Given the description of an element on the screen output the (x, y) to click on. 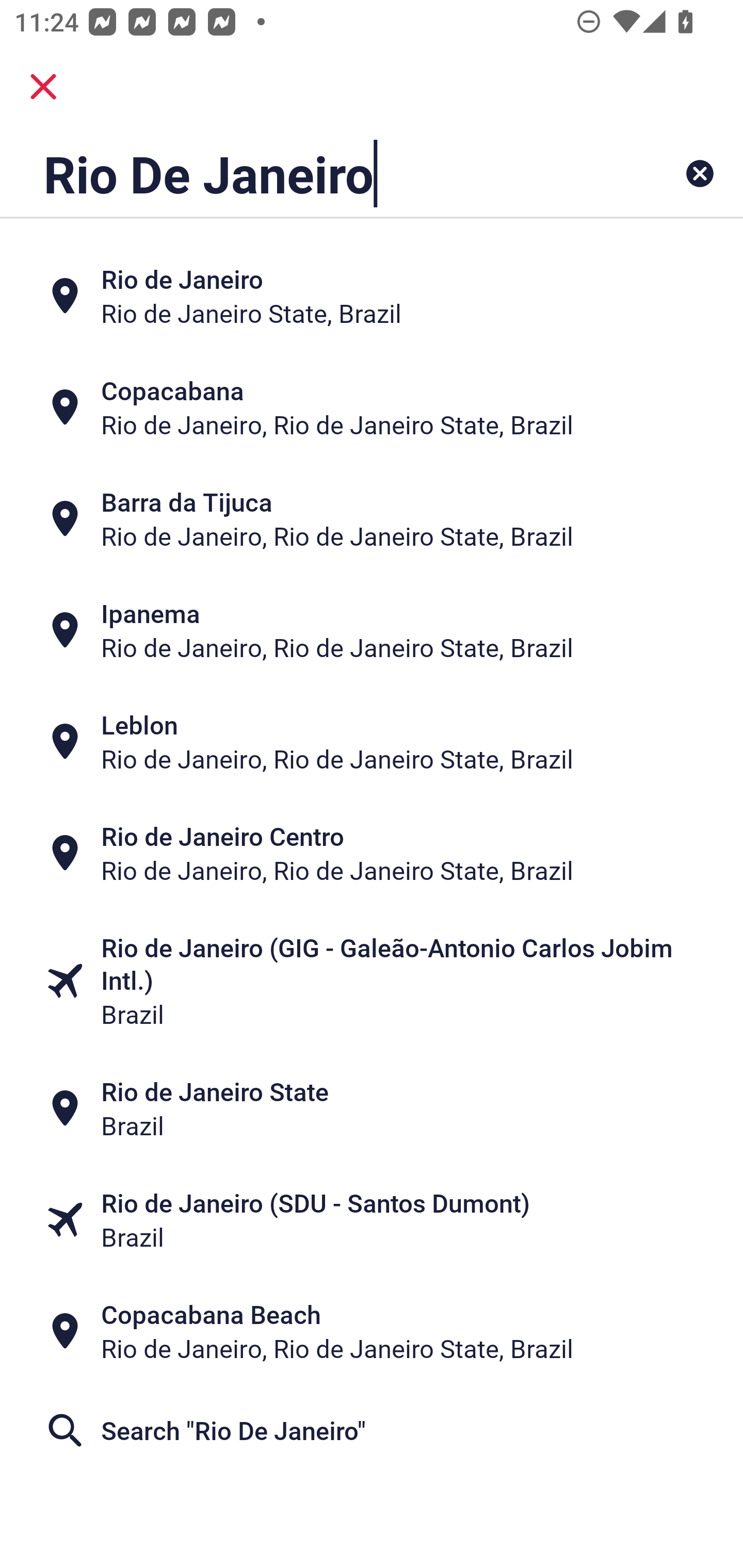
close. (43, 86)
Clear (699, 173)
Rio De Janeiro (306, 173)
Rio de Janeiro Rio de Janeiro State, Brazil (371, 295)
Rio de Janeiro State Brazil (371, 1107)
Rio de Janeiro (SDU - Santos Dumont) Brazil (371, 1218)
Search "Rio De Janeiro" (371, 1430)
